Given the description of an element on the screen output the (x, y) to click on. 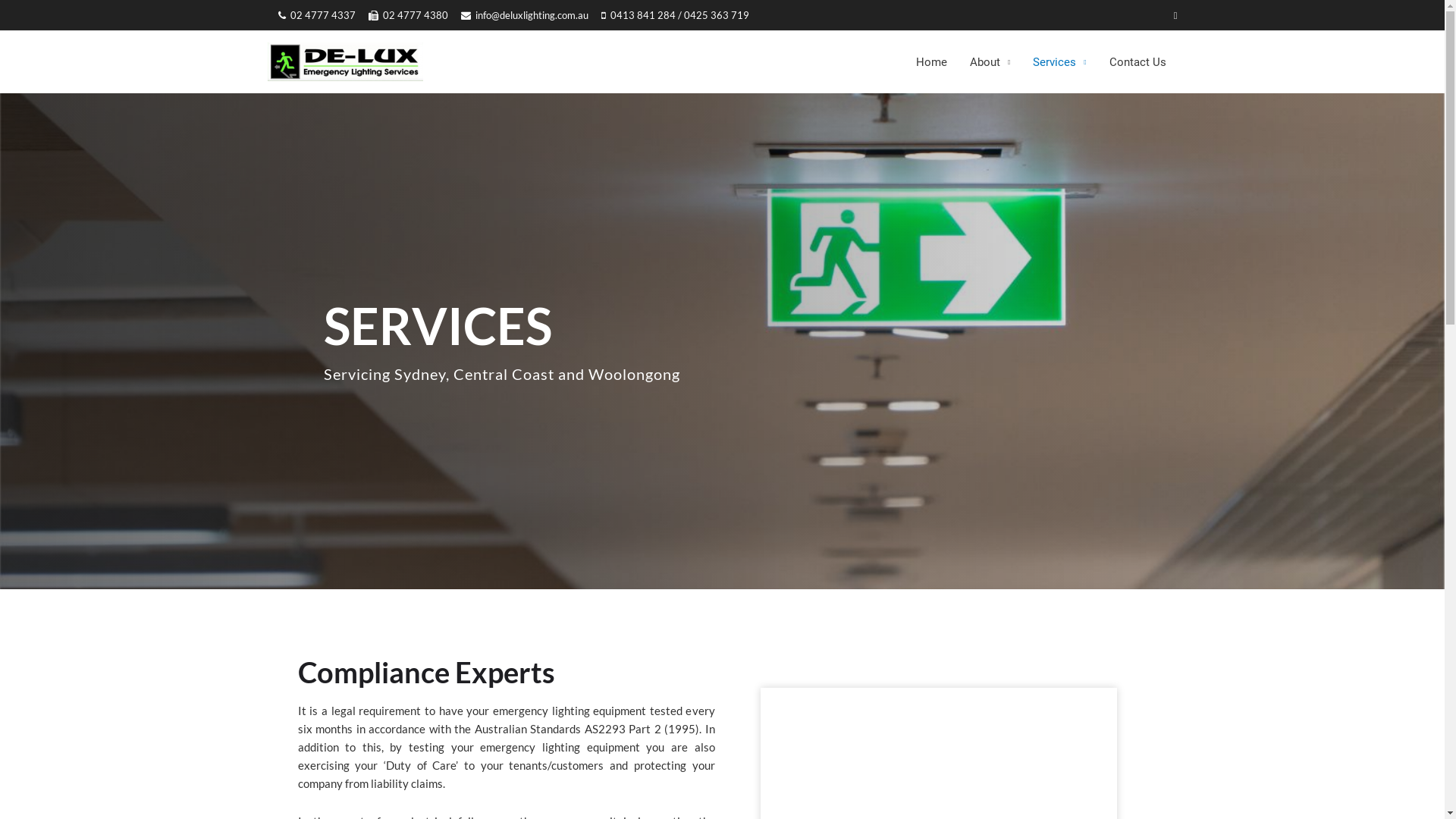
Contact Us Element type: text (1137, 61)
Services Element type: text (1059, 61)
Home Element type: text (931, 61)
About Element type: text (989, 61)
